Given the description of an element on the screen output the (x, y) to click on. 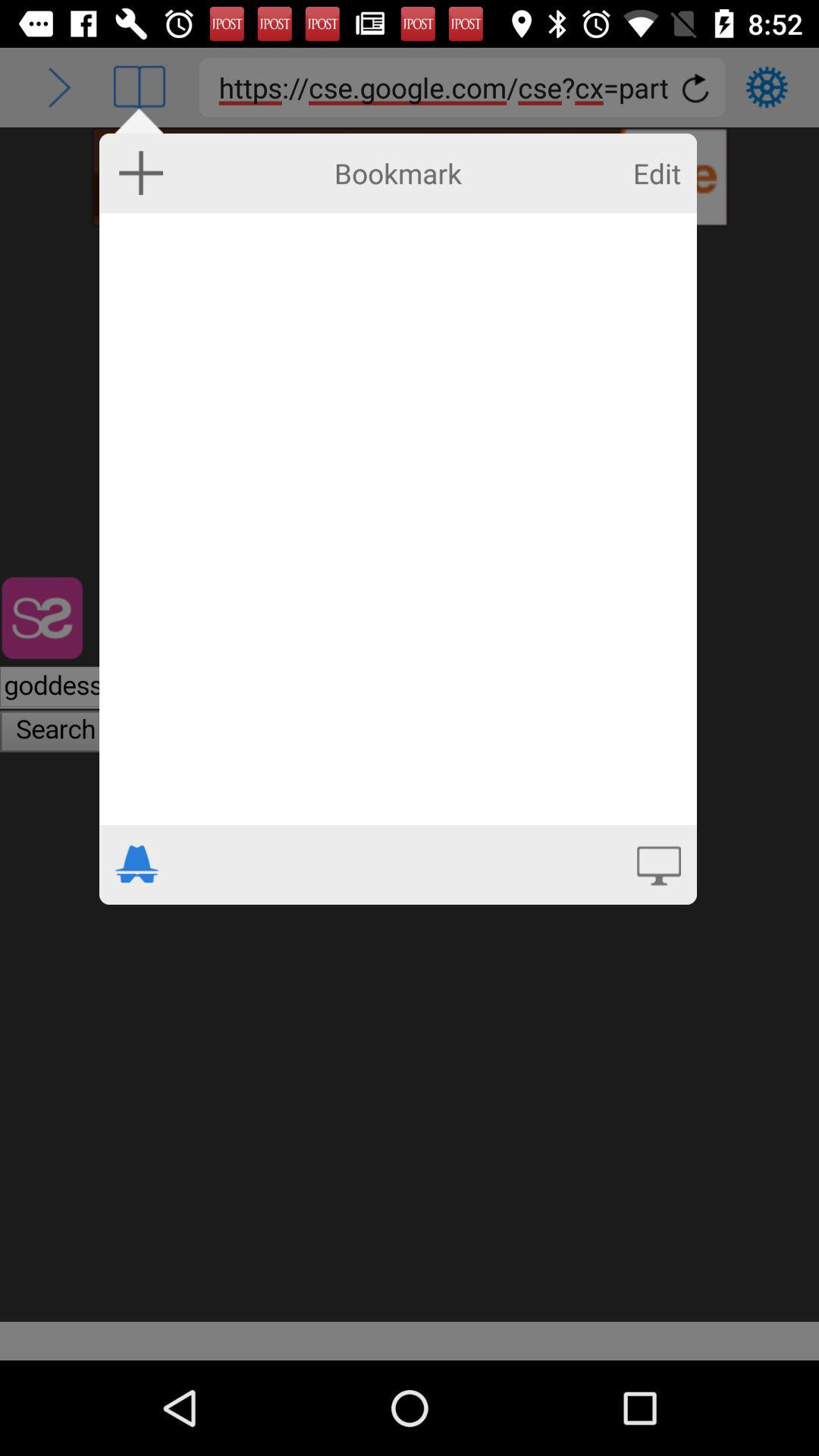
add bookmark (141, 172)
